Given the description of an element on the screen output the (x, y) to click on. 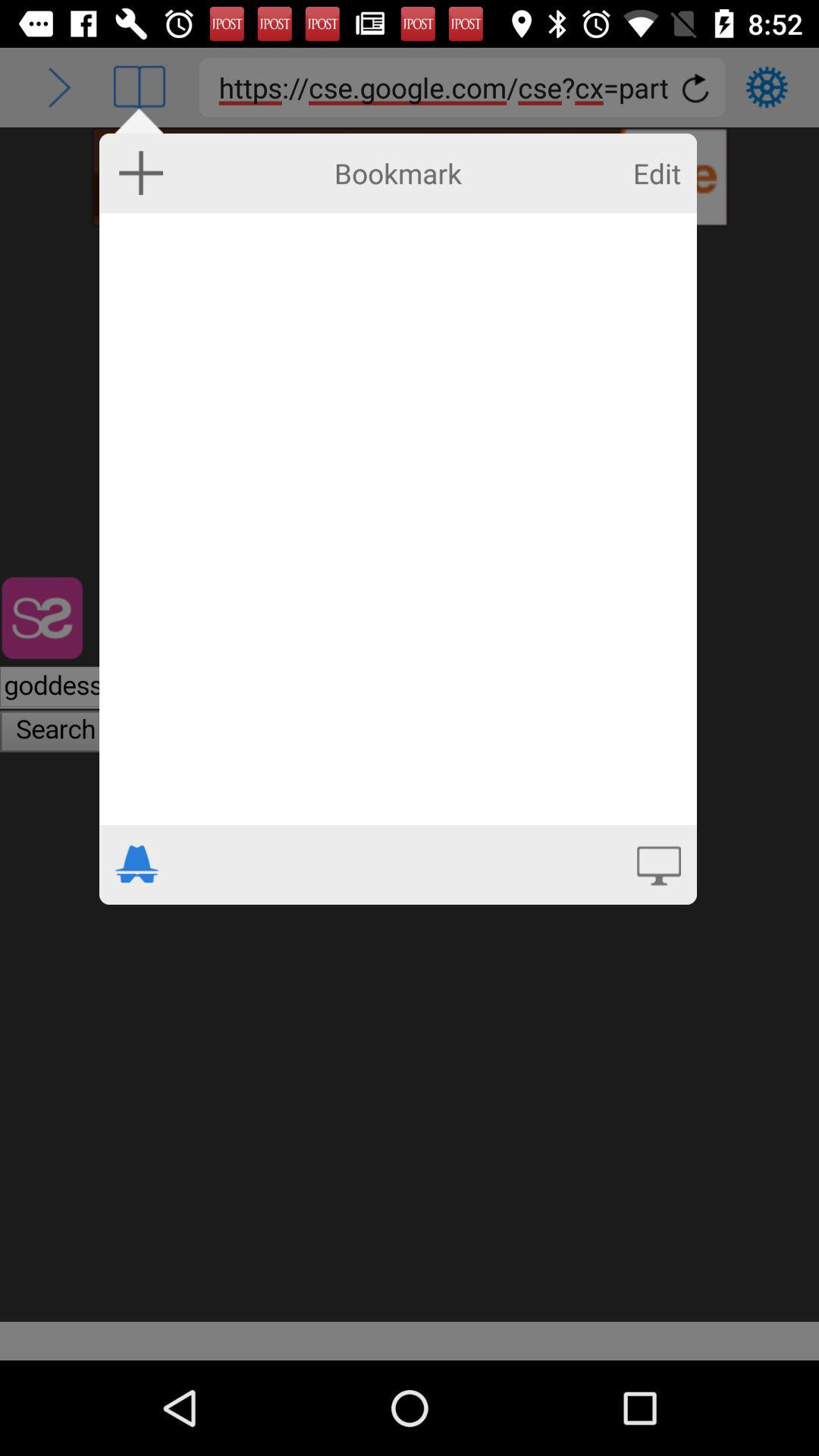
add bookmark (141, 172)
